Given the description of an element on the screen output the (x, y) to click on. 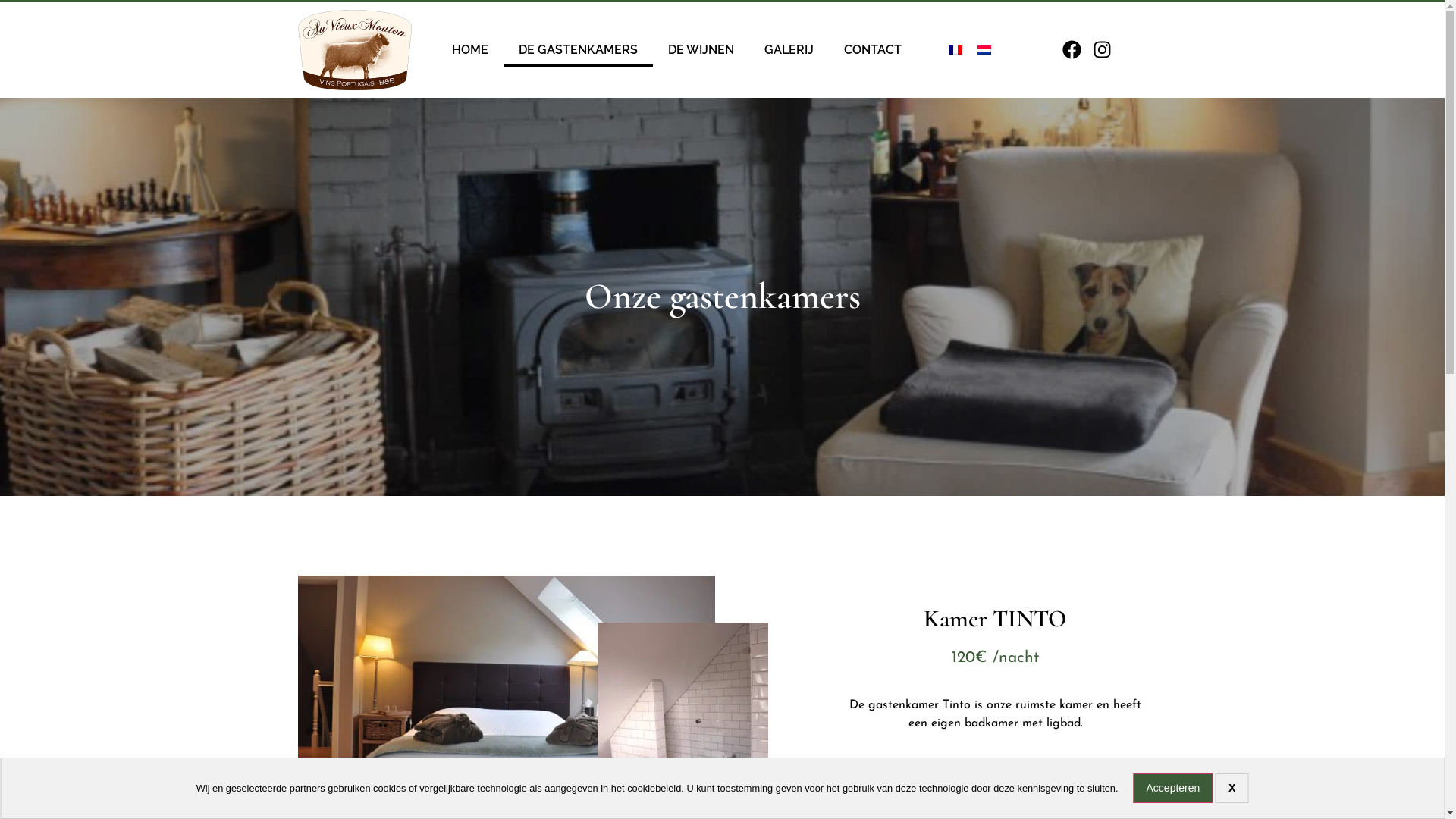
CONTACT Element type: text (872, 49)
cookiebeleid Element type: text (653, 787)
DE WIJNEN Element type: text (700, 49)
Lees meer Element type: text (994, 776)
DE GASTENKAMERS Element type: text (577, 49)
Accepteren Element type: text (1173, 788)
X Element type: text (1231, 788)
HOME Element type: text (469, 49)
GALERIJ Element type: text (788, 49)
